Given the description of an element on the screen output the (x, y) to click on. 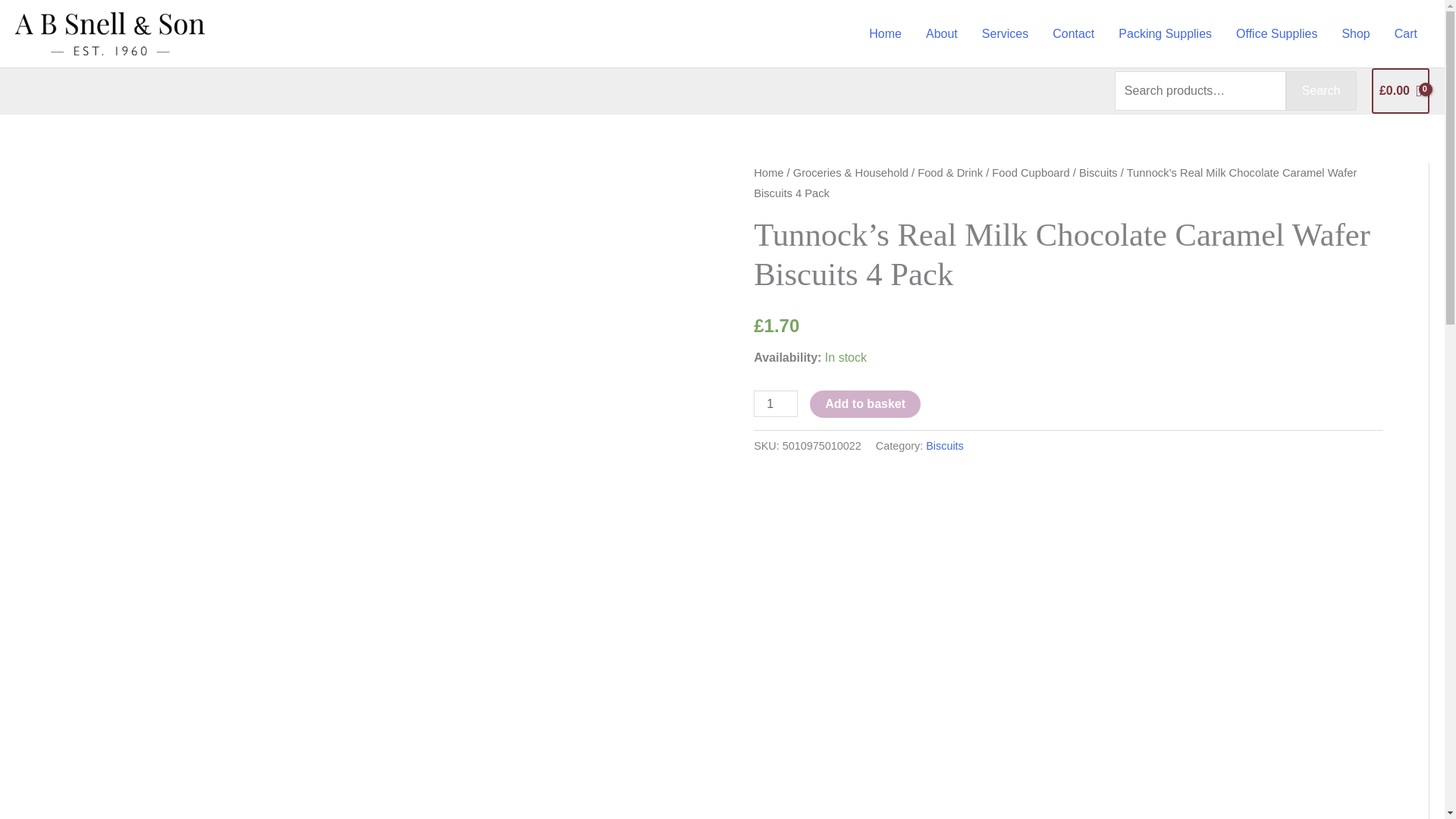
Shop (1355, 33)
Food Cupboard (1029, 173)
Packing Supplies (1165, 33)
1 (775, 403)
Home (885, 33)
Add to basket (864, 403)
Biscuits (944, 445)
Services (1005, 33)
About (941, 33)
Biscuits (1098, 173)
Home (768, 173)
Office Supplies (1276, 33)
Contact (1073, 33)
Search (1320, 90)
